Given the description of an element on the screen output the (x, y) to click on. 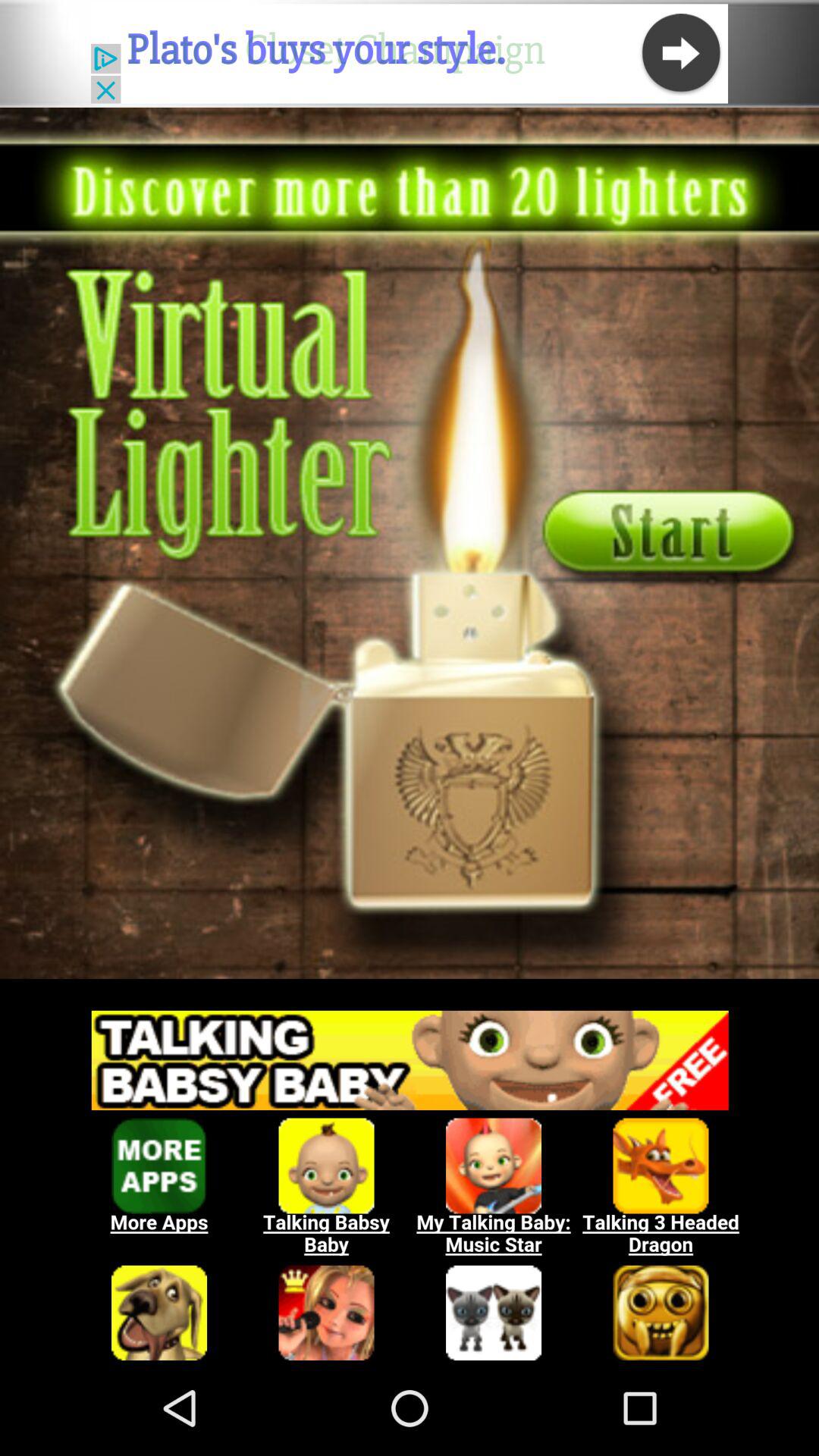
share image (409, 542)
